Given the description of an element on the screen output the (x, y) to click on. 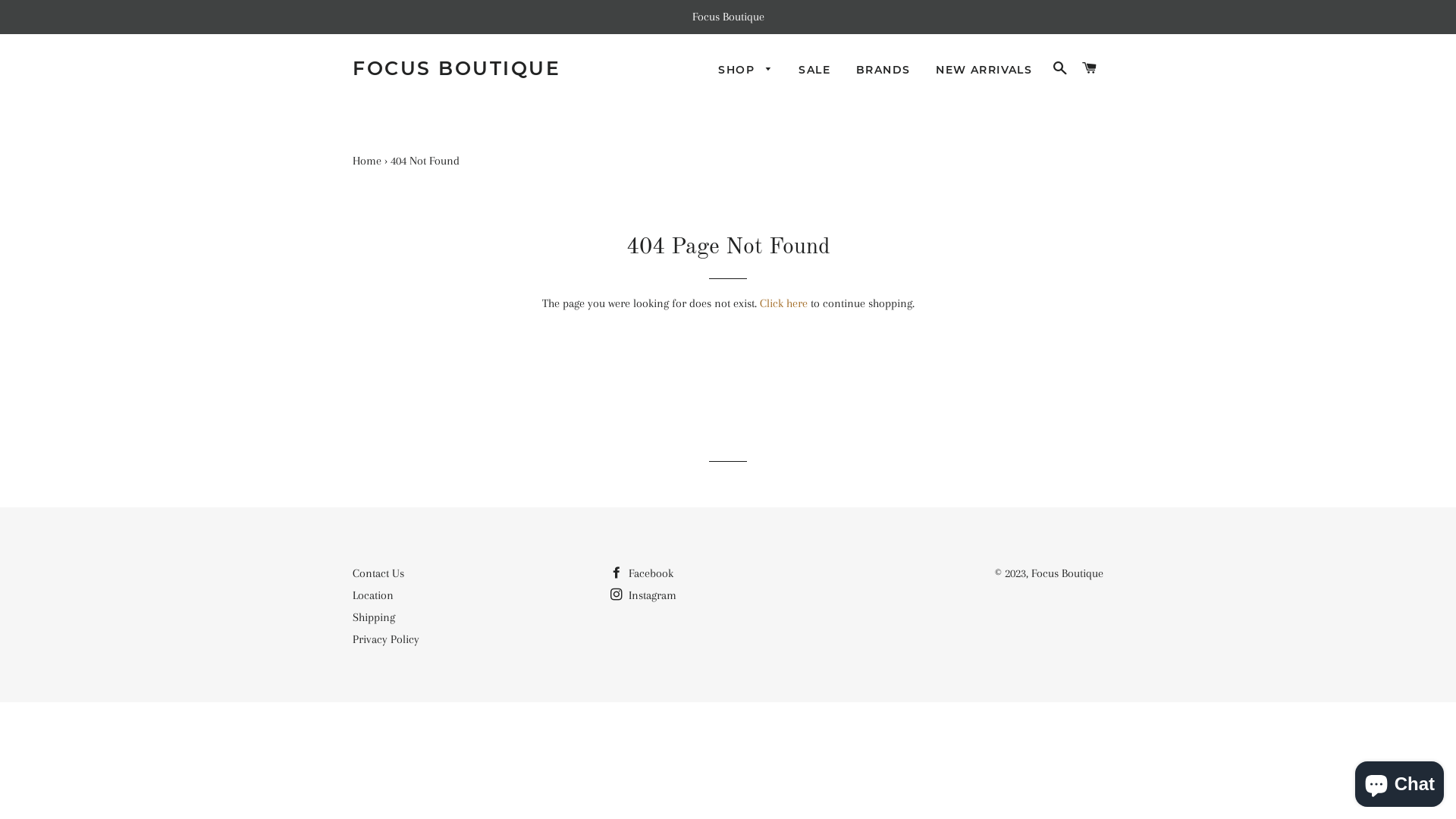
Contact Us Element type: text (378, 573)
FOCUS BOUTIQUE Element type: text (456, 68)
SEARCH Element type: text (1059, 68)
NEW ARRIVALS Element type: text (983, 70)
SHOP Element type: text (745, 70)
CART Element type: text (1089, 68)
Instagram Element type: text (643, 595)
SALE Element type: text (814, 70)
Focus Boutique Element type: text (1067, 573)
Location Element type: text (372, 595)
BRANDS Element type: text (882, 70)
Shipping Element type: text (373, 617)
Home Element type: text (366, 160)
Privacy Policy Element type: text (385, 639)
Shopify online store chat Element type: hover (1399, 780)
Click here Element type: text (783, 303)
Facebook Element type: text (641, 573)
